Given the description of an element on the screen output the (x, y) to click on. 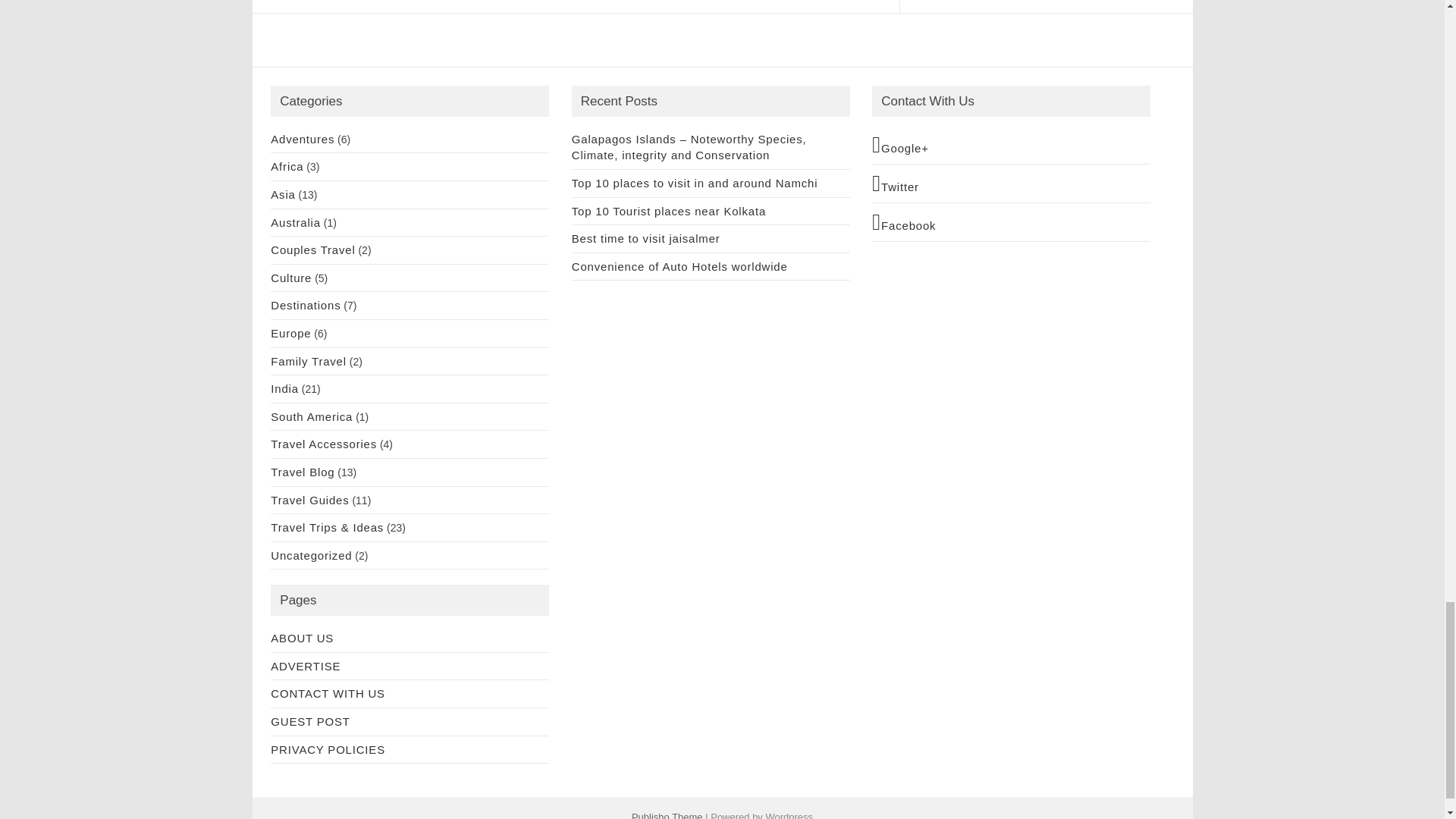
Visit Travel at Destination on Twitter (1011, 182)
Visit Travel at Destination on Facebook (1011, 221)
